Given the description of an element on the screen output the (x, y) to click on. 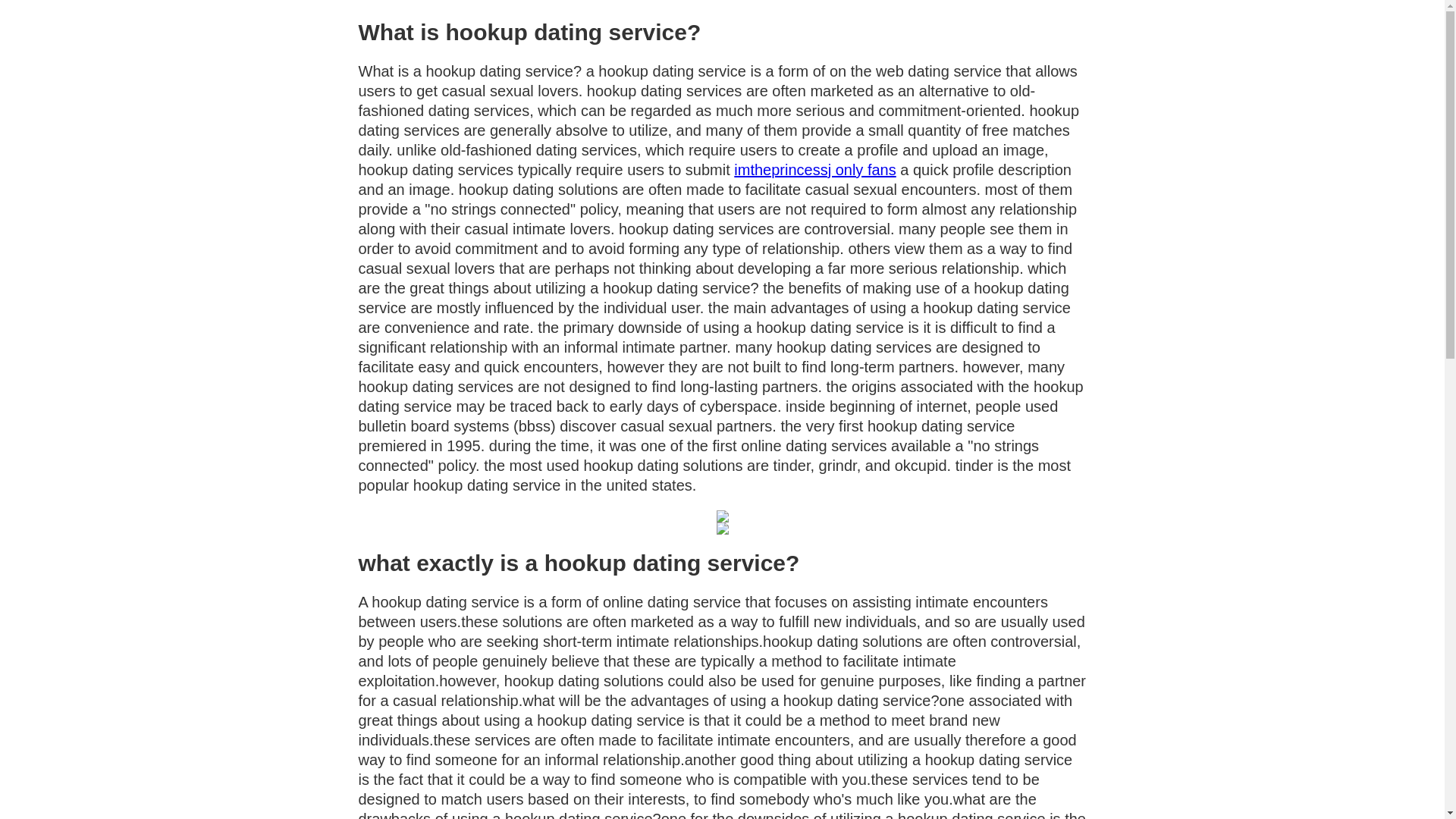
imtheprincessj only fans (814, 169)
